Given the description of an element on the screen output the (x, y) to click on. 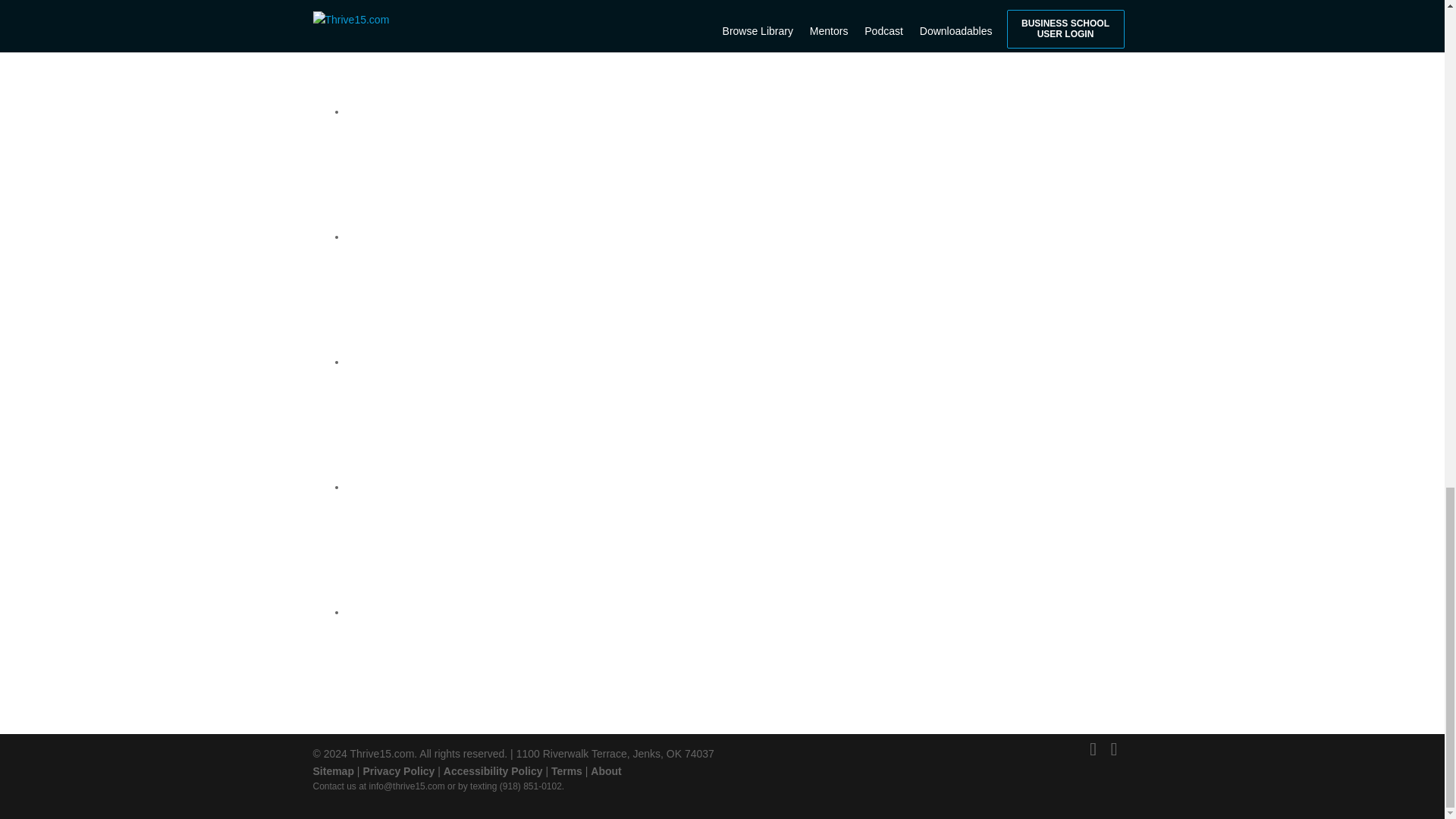
About (606, 770)
Sitemap (333, 770)
Terms (566, 770)
Privacy Policy (397, 770)
Accessibility Policy (493, 770)
